Given the description of an element on the screen output the (x, y) to click on. 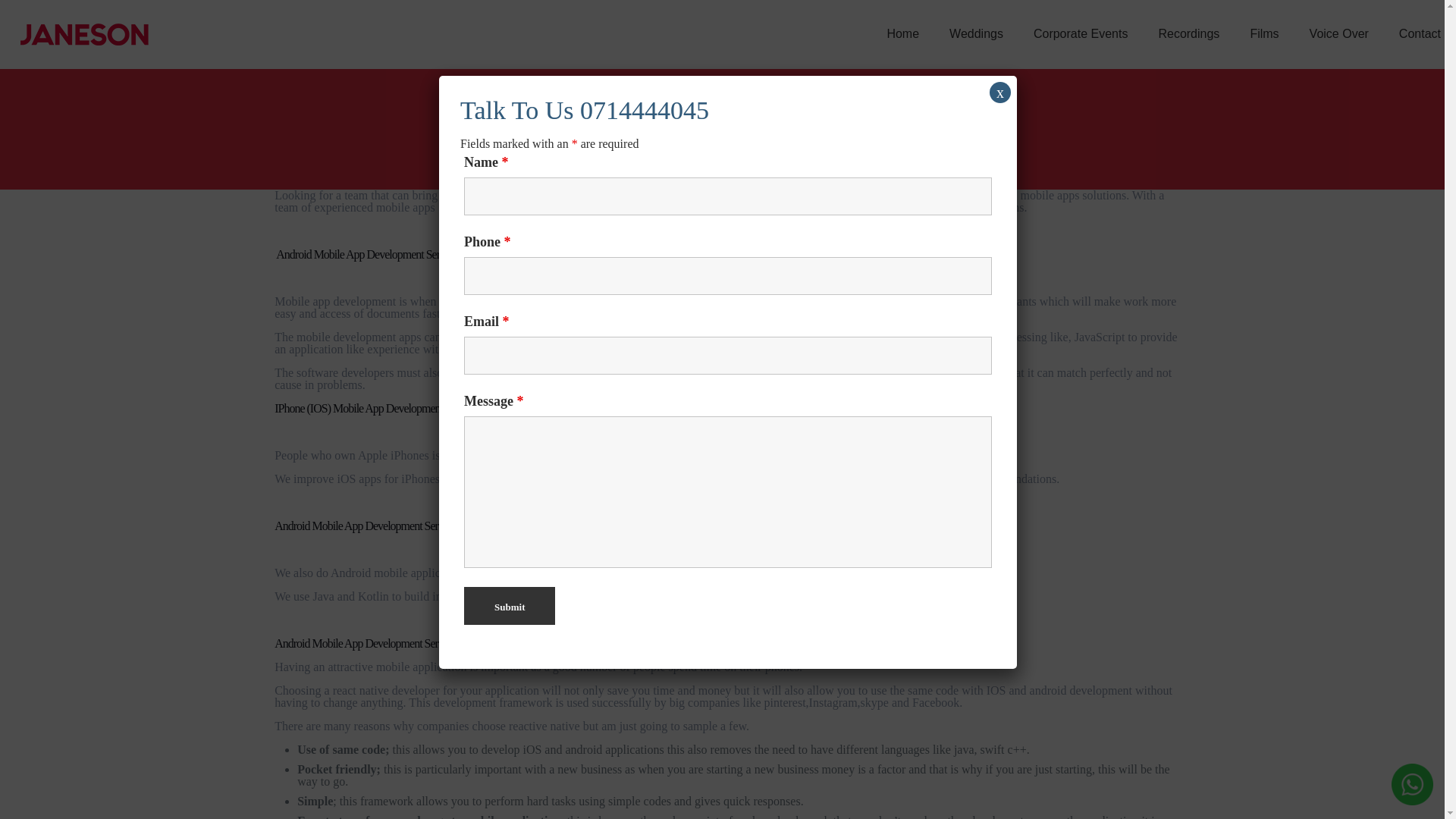
Corporate Events (1079, 33)
Voice Over (1339, 33)
Submit (509, 605)
Recordings (1188, 33)
Contact (1420, 33)
x (1000, 92)
Home (902, 33)
Submit (509, 605)
Janeson (83, 33)
Weddings (975, 33)
